Given the description of an element on the screen output the (x, y) to click on. 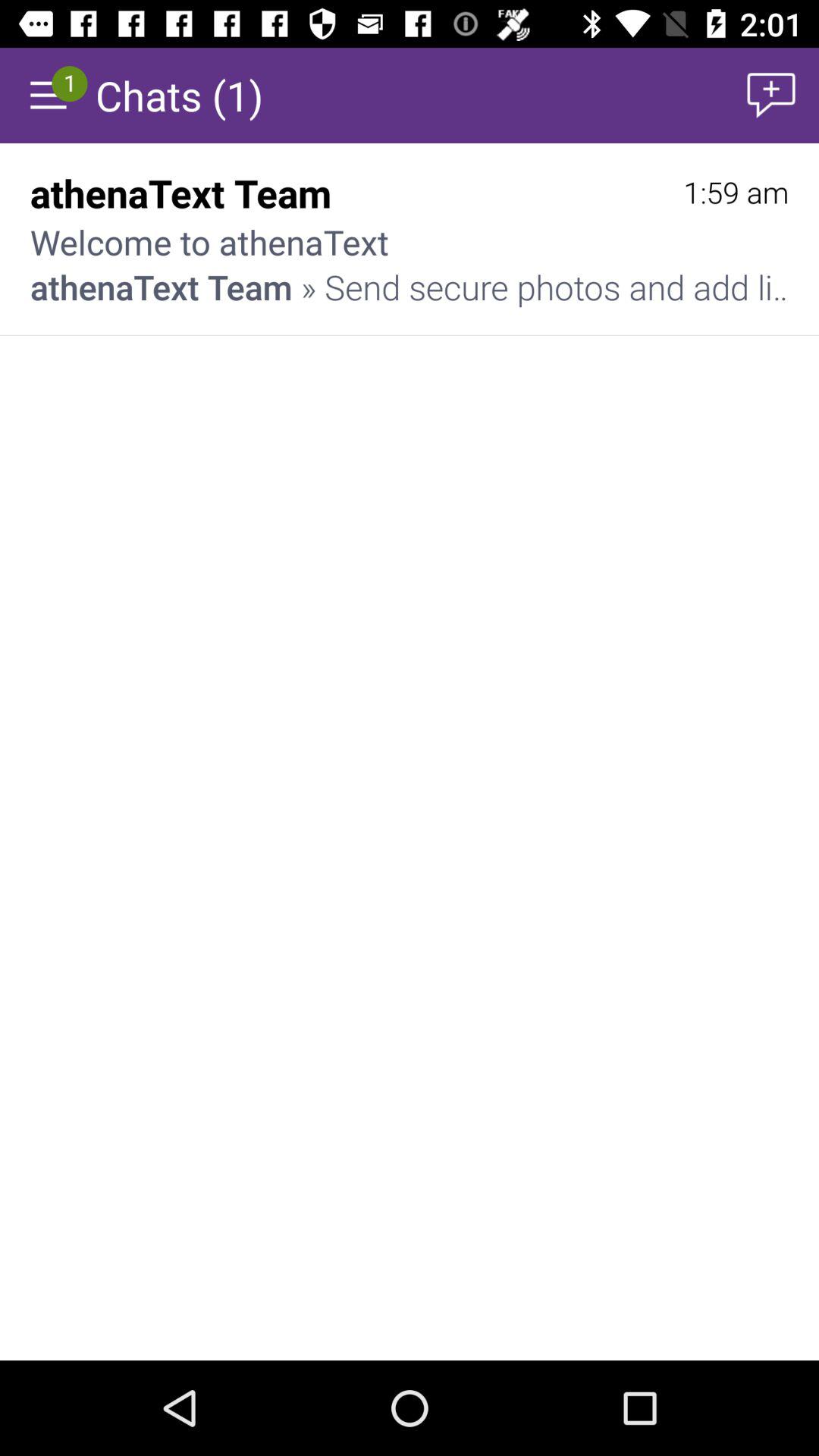
open the icon above the athenatext team send icon (735, 192)
